Given the description of an element on the screen output the (x, y) to click on. 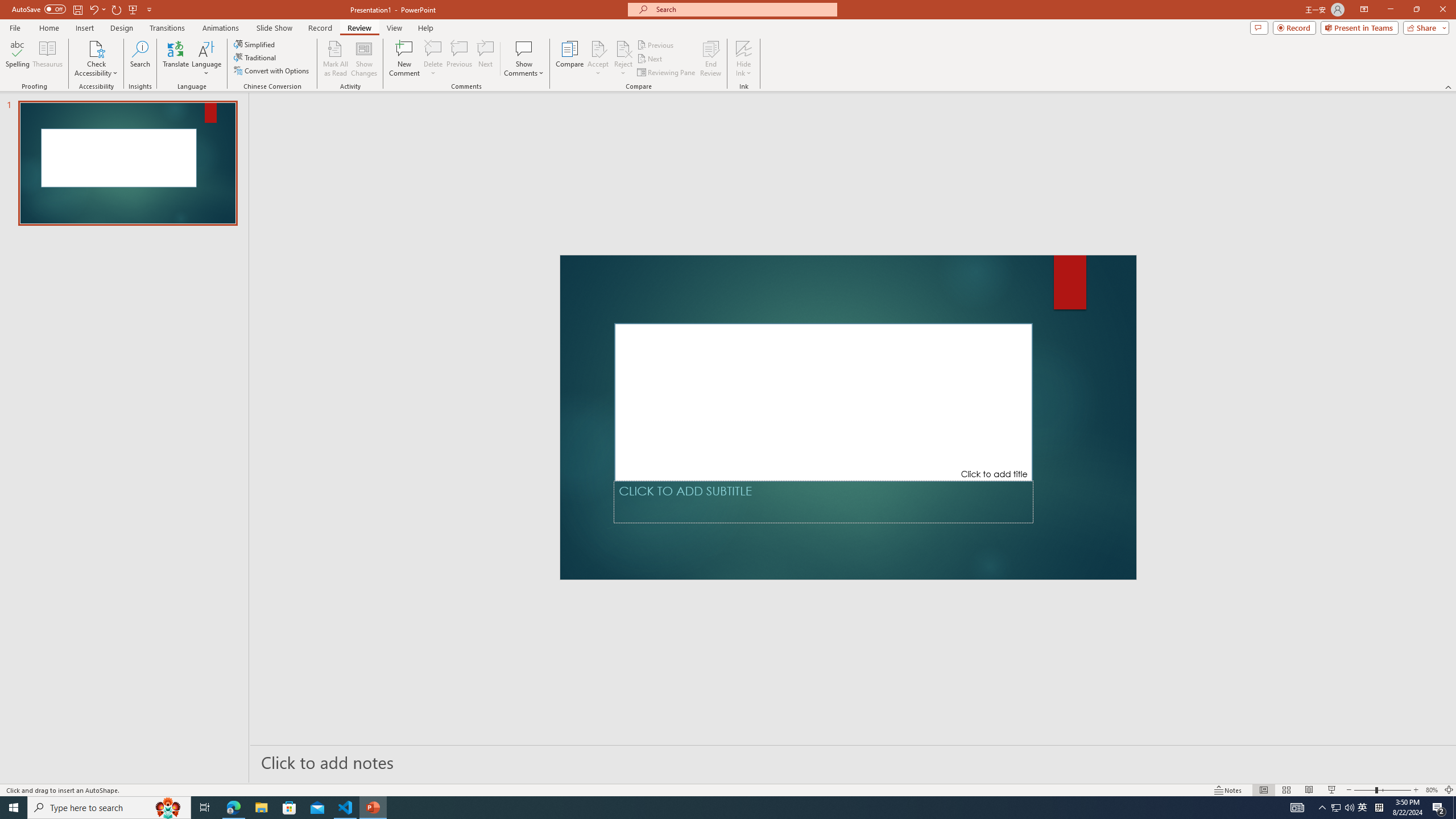
Zoom 80% (1431, 790)
